Given the description of an element on the screen output the (x, y) to click on. 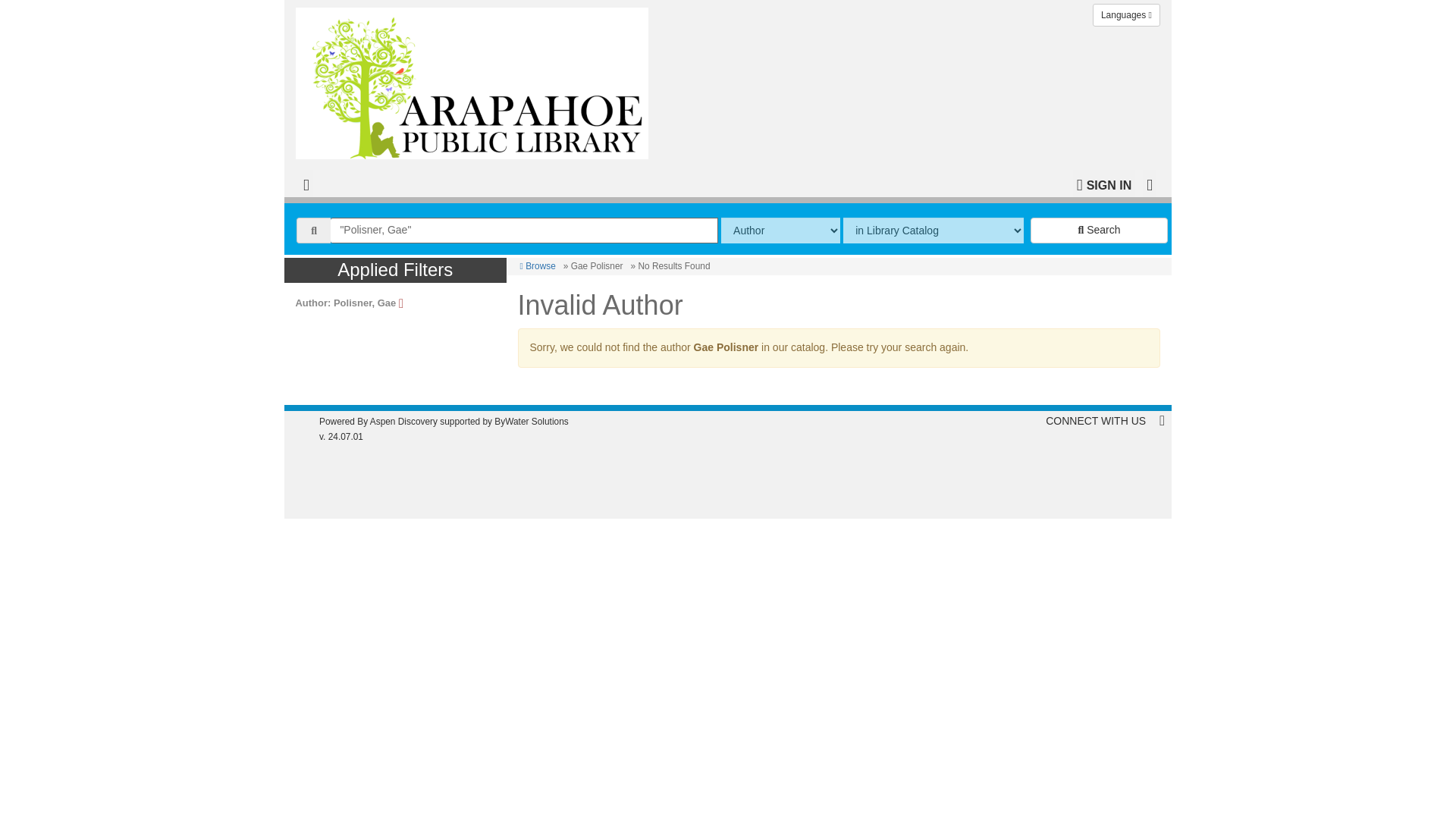
SIGN IN (1104, 183)
"Polisner, Gae" (523, 230)
Return to Catalog Home (475, 79)
Login (1104, 183)
Browse the catalog (537, 266)
The method of searching. (780, 230)
Languages  (1126, 15)
Browse (537, 266)
 Search (1098, 230)
